Given the description of an element on the screen output the (x, y) to click on. 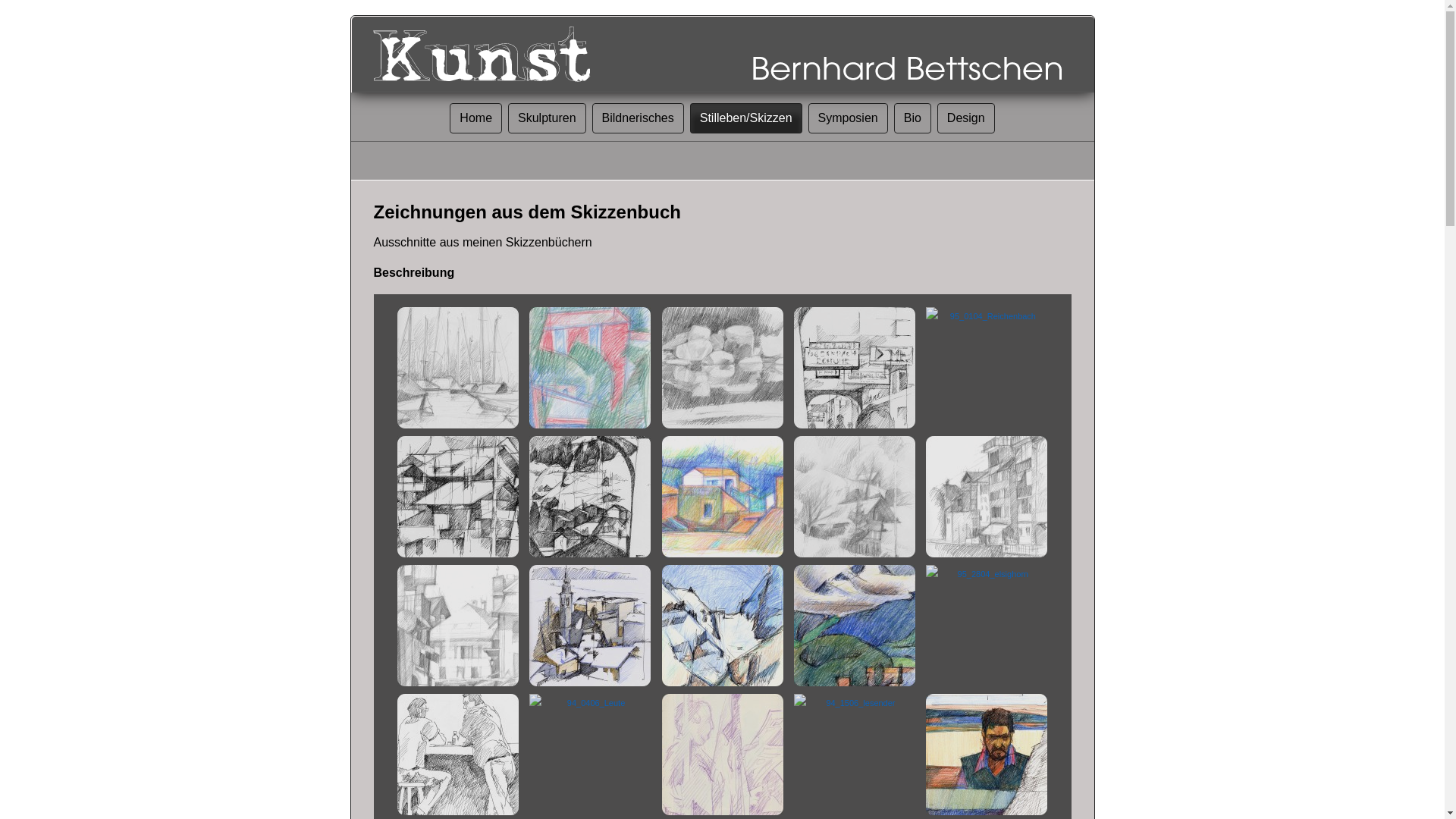
Skulpturen Element type: text (547, 118)
Bildnerisches Element type: text (638, 118)
2003_1003_Bever Element type: hover (589, 625)
95_3003_reichenbach Element type: hover (457, 496)
92_1706_lioux Element type: hover (589, 367)
92_2004_Steine_am_Teich Element type: hover (721, 367)
92_2606_Roussillon Element type: hover (721, 496)
93_2207_Schwendli Element type: hover (854, 496)
94_0406_Leute Element type: hover (589, 702)
Symposien Element type: text (848, 118)
Bio Element type: text (912, 118)
94_1304_Lesender Element type: hover (721, 754)
Design Element type: text (965, 118)
95_3103_Frutigen Element type: hover (589, 496)
93_3007_Bex_VD Element type: hover (457, 625)
Stilleben/Skizzen Element type: text (746, 118)
94_1506_lesender Element type: hover (854, 702)
95_0104_Reichenbach Element type: hover (986, 316)
94_1603_Selbst Element type: hover (986, 754)
Beschreibung Element type: text (413, 272)
92_0608_Spiez Element type: hover (457, 367)
94_0403_Gespraech_ander_Bar Element type: hover (457, 754)
94_2803_Gamchiluecke Element type: hover (721, 625)
Home Element type: text (475, 118)
93_2806_aarequai_Thun Element type: hover (986, 496)
95_2804_elsighorn Element type: hover (986, 573)
95_0504_Bern Element type: hover (854, 367)
95_1705_Niesen_von_Spiez Element type: hover (854, 625)
